Given the description of an element on the screen output the (x, y) to click on. 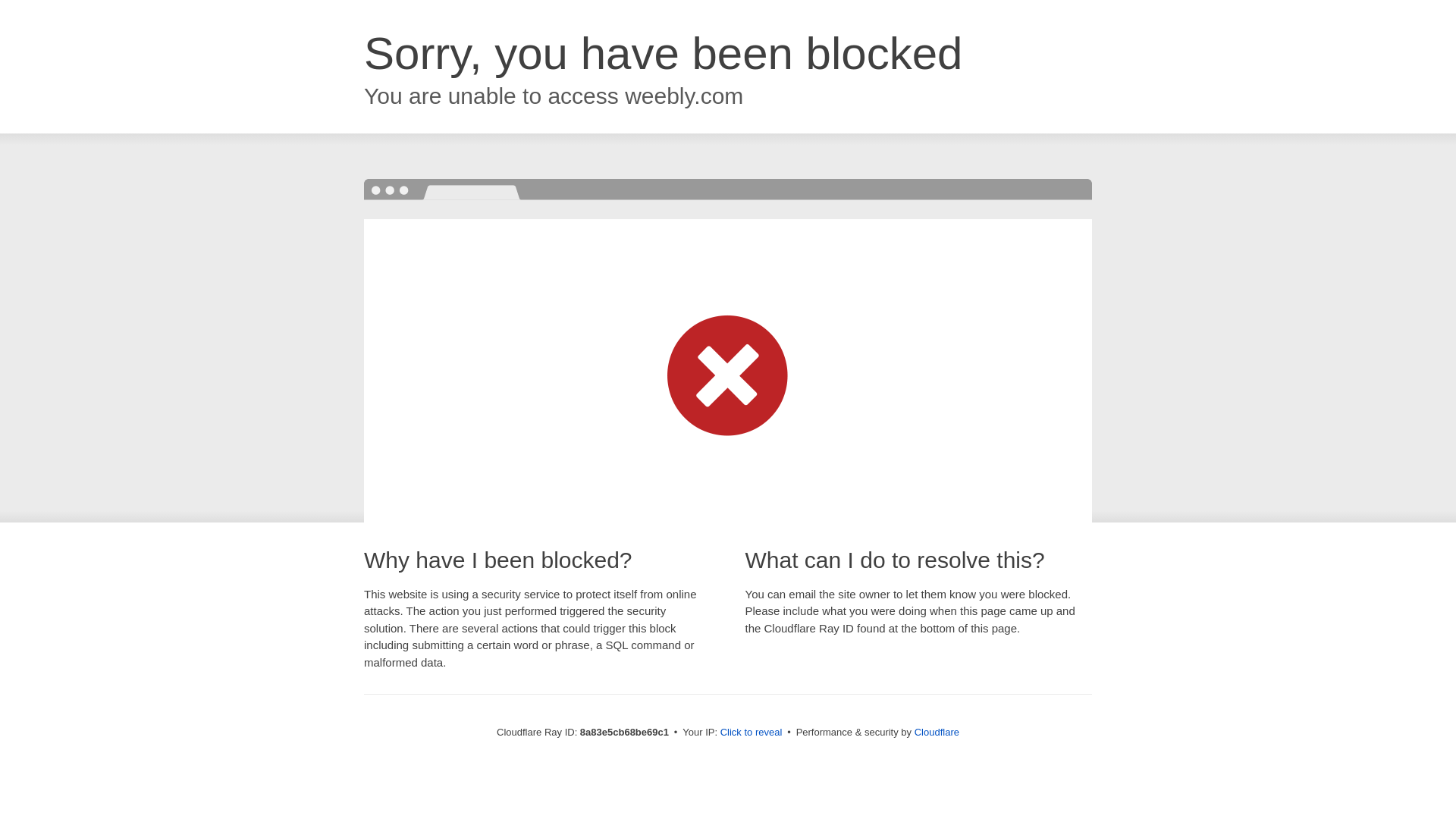
Cloudflare (936, 731)
Click to reveal (751, 732)
